Given the description of an element on the screen output the (x, y) to click on. 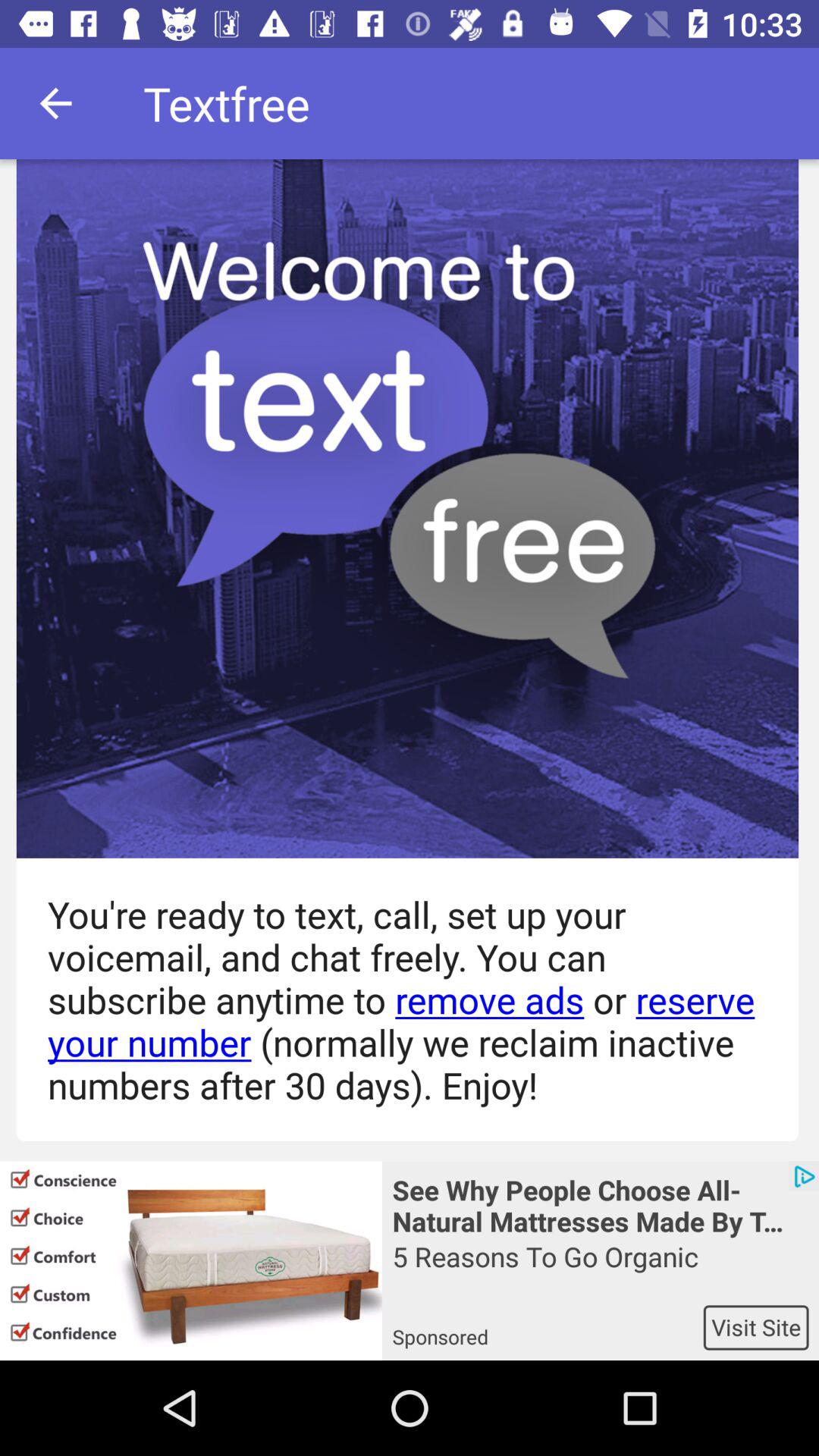
turn on item to the left of visit site app (547, 1327)
